Given the description of an element on the screen output the (x, y) to click on. 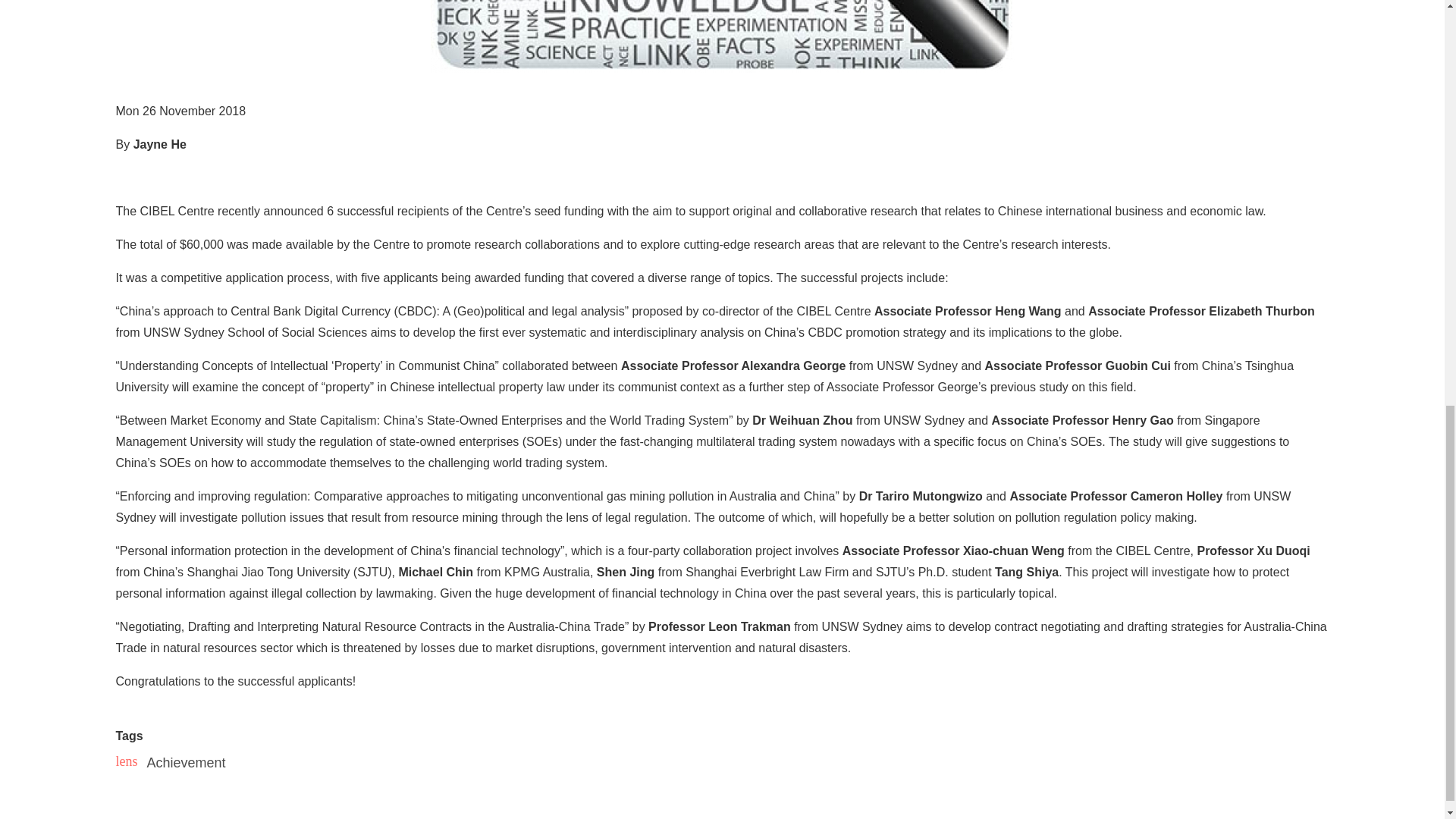
Achievement (186, 763)
